Given the description of an element on the screen output the (x, y) to click on. 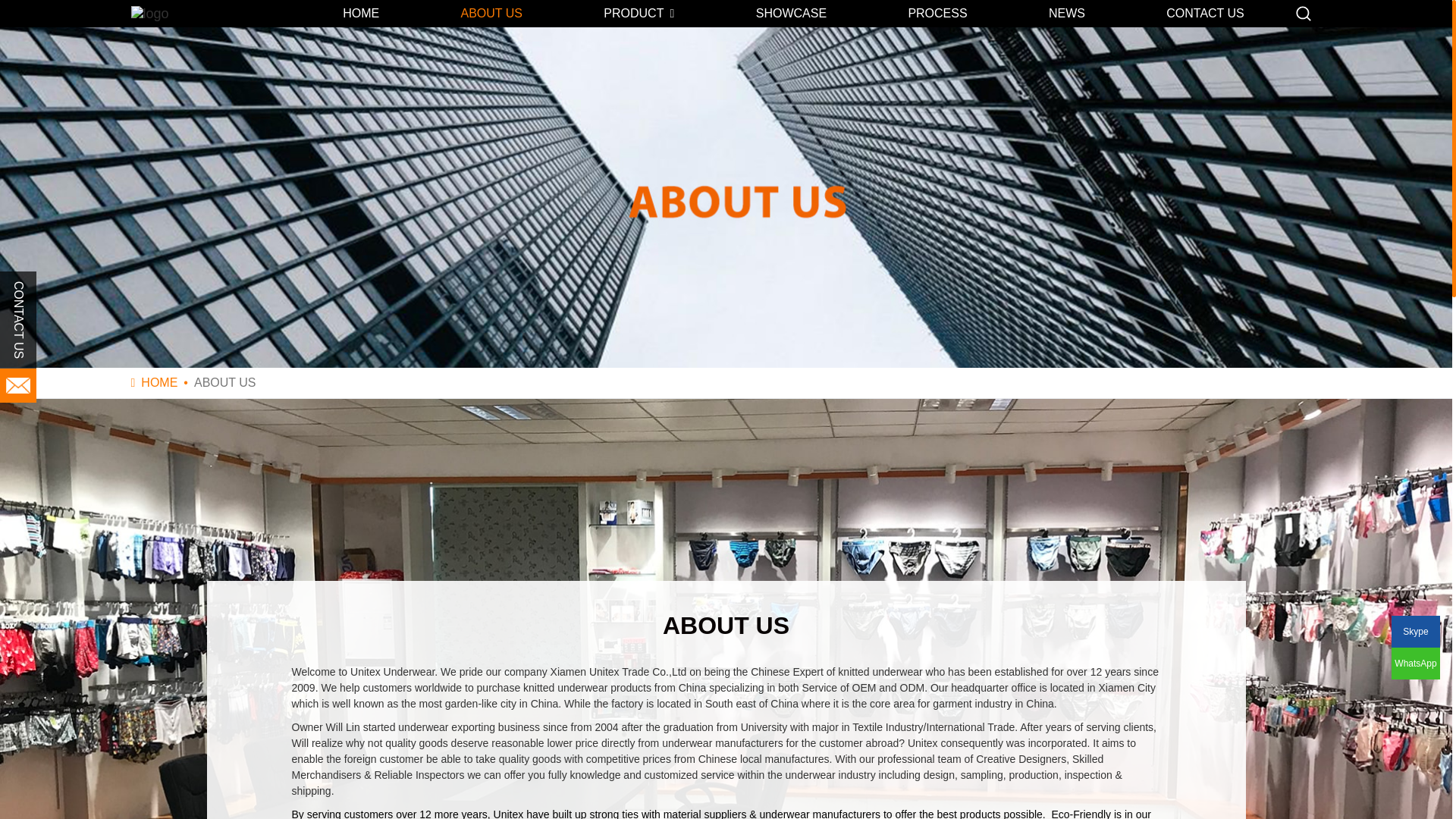
PRODUCT (638, 13)
ABOUT US (491, 13)
SHOWCASE (790, 13)
PROCESS (936, 13)
NEWS (1066, 13)
HOME (360, 13)
HOME (159, 382)
CONTACT US (1205, 13)
